Given the description of an element on the screen output the (x, y) to click on. 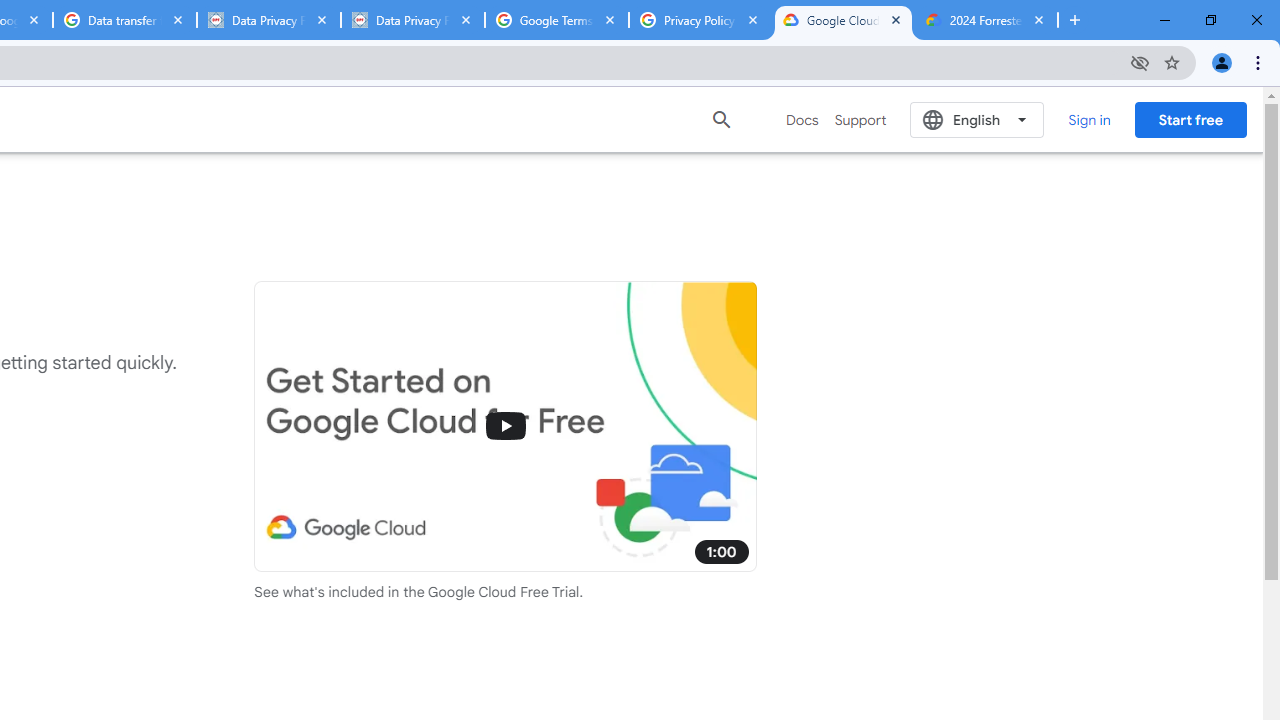
Google Cloud Free Trial FAQs | Google Cloud (843, 20)
Data Privacy Framework (412, 20)
